Given the description of an element on the screen output the (x, y) to click on. 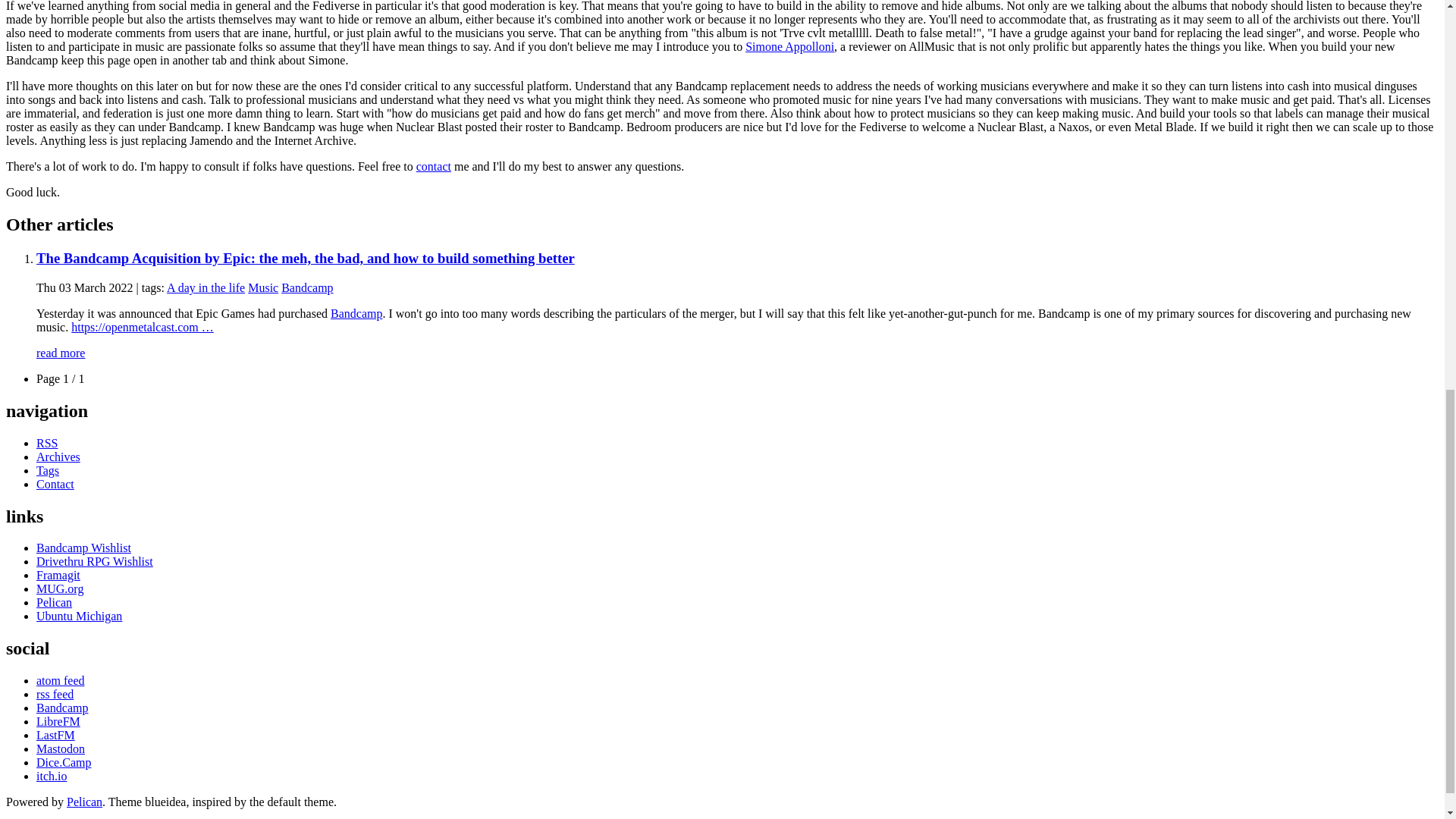
Archives (58, 456)
Drivethru RPG Wishlist (94, 561)
Framagit (58, 574)
MUG.org (59, 588)
Music (262, 287)
Pelican (53, 602)
atom feed (60, 680)
Tags (47, 470)
